Given the description of an element on the screen output the (x, y) to click on. 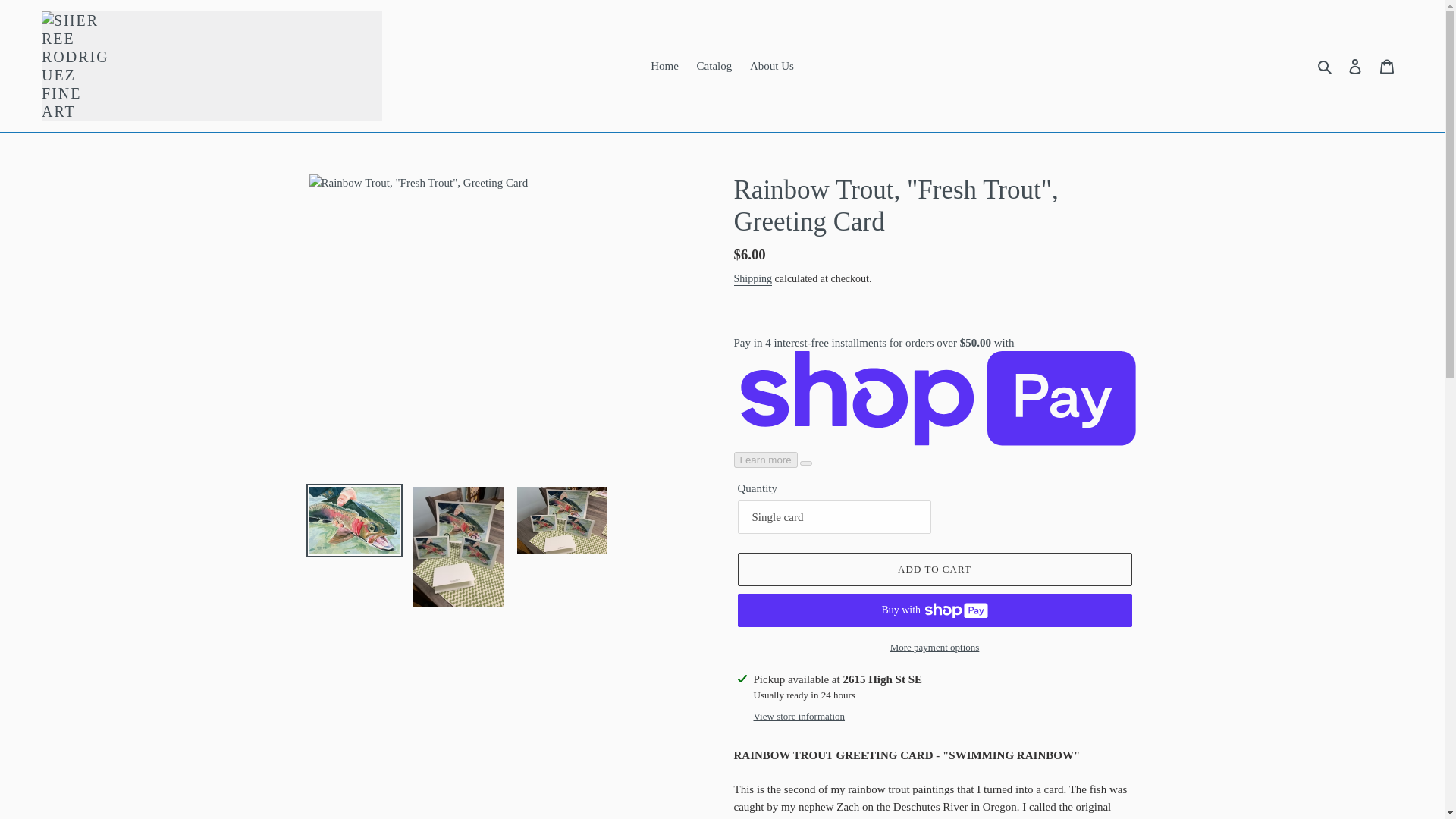
Search (1326, 66)
View store information (799, 716)
Shipping (753, 278)
Catalog (713, 65)
Cart (1387, 65)
Home (664, 65)
Log in (1355, 65)
More payment options (933, 647)
ADD TO CART (933, 569)
About Us (772, 65)
